Given the description of an element on the screen output the (x, y) to click on. 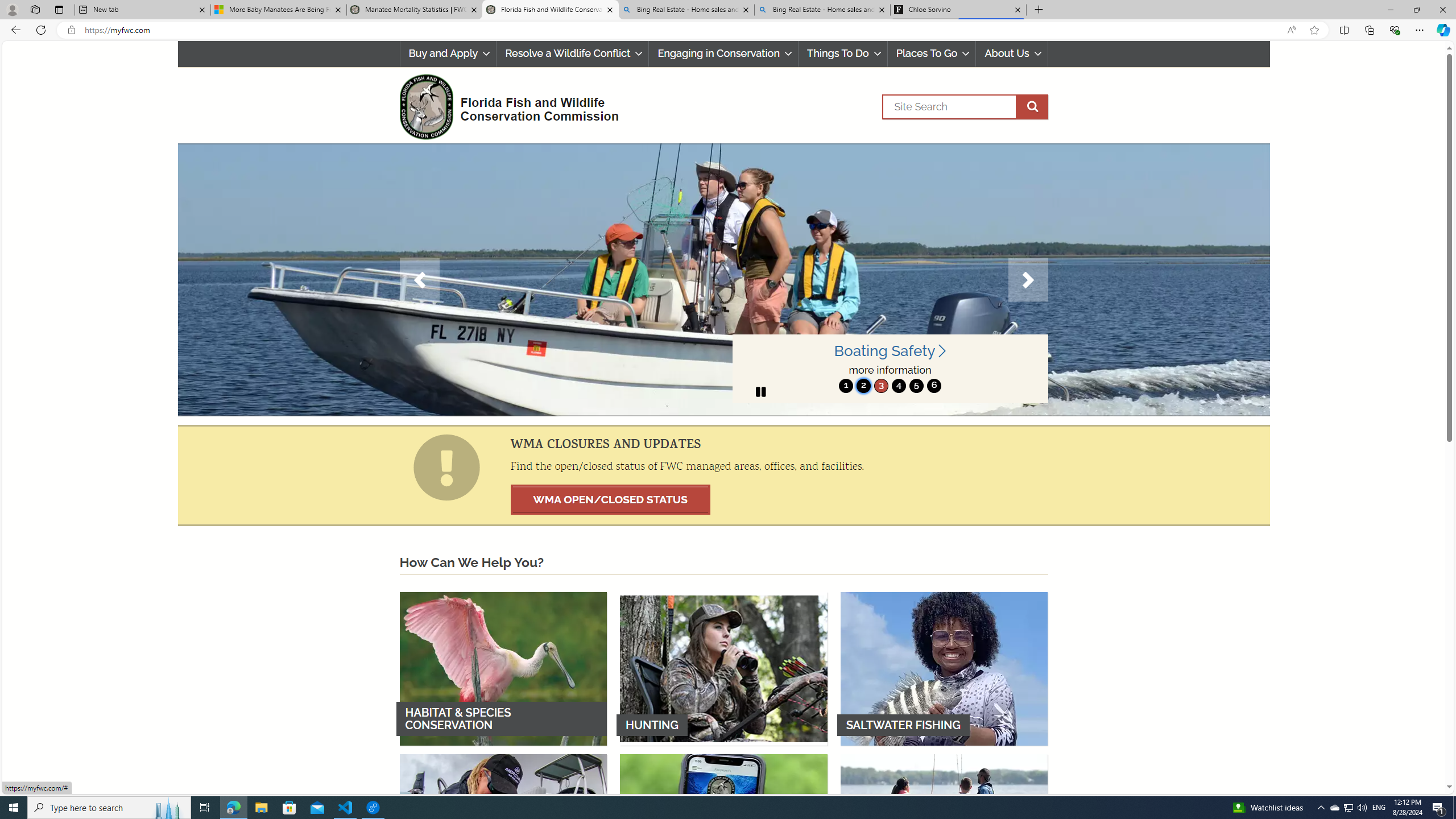
Personal Profile (12, 9)
Split screen (1344, 29)
Things To Do (841, 53)
Browser essentials (1394, 29)
Chloe Sorvino (957, 9)
move to slide 2 (863, 385)
carousel image link (723, 279)
move to slide 5 (916, 385)
Manatee Mortality Statistics | FWC (414, 9)
FWC Logo (425, 106)
New tab (142, 9)
Next (1027, 279)
Places To Go (930, 53)
Engaging in Conservation (723, 53)
Resolve a Wildlife Conflict (572, 53)
